Given the description of an element on the screen output the (x, y) to click on. 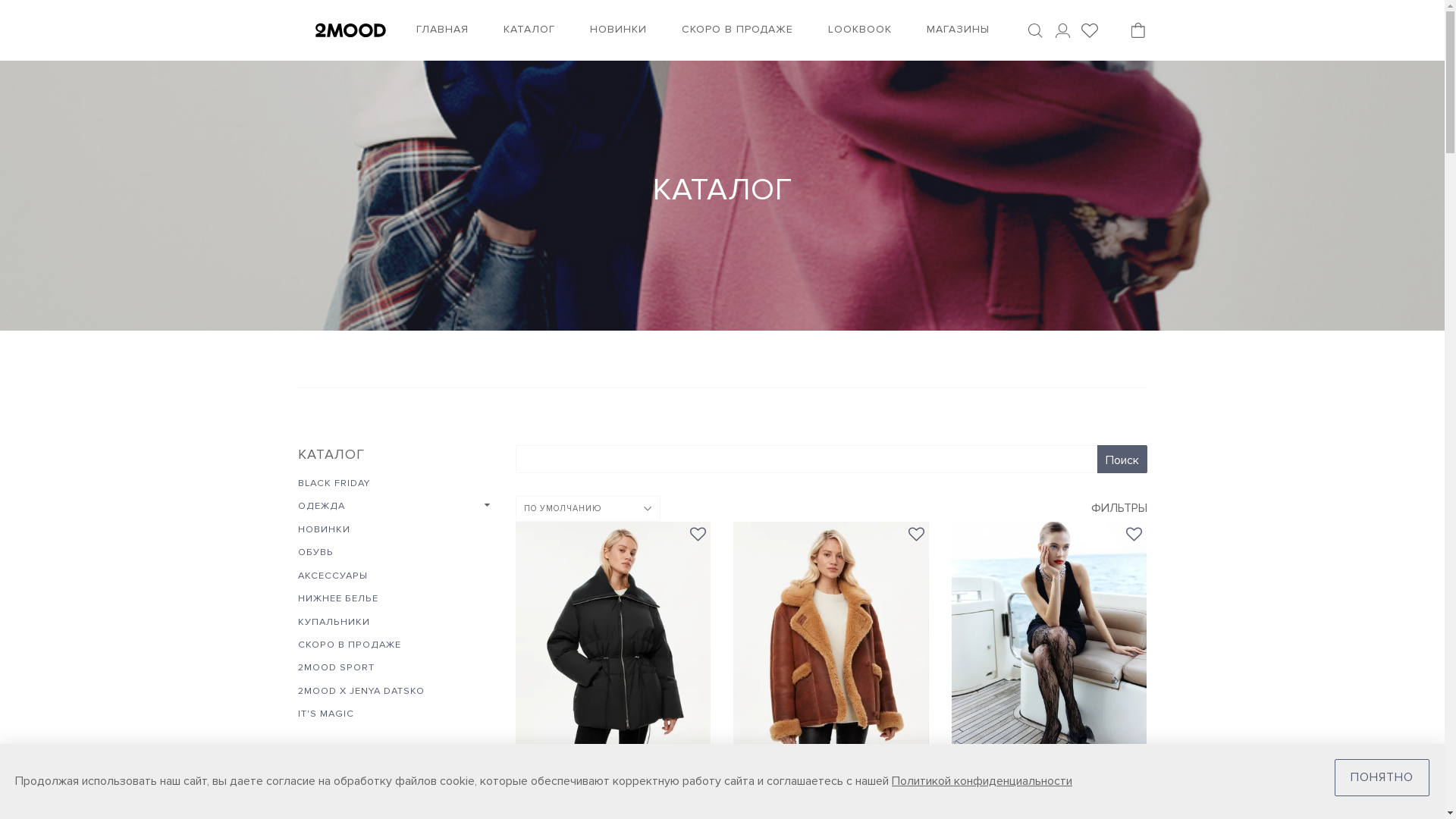
LOOKBOOK Element type: text (859, 29)
IT'S MAGIC Element type: text (321, 713)
2MOOD Element type: hover (349, 30)
2MOOD SPORT Element type: text (331, 666)
2MOOD X JENYA DATSKO Element type: text (356, 690)
BLACK FRIDAY Element type: text (329, 482)
